Given the description of an element on the screen output the (x, y) to click on. 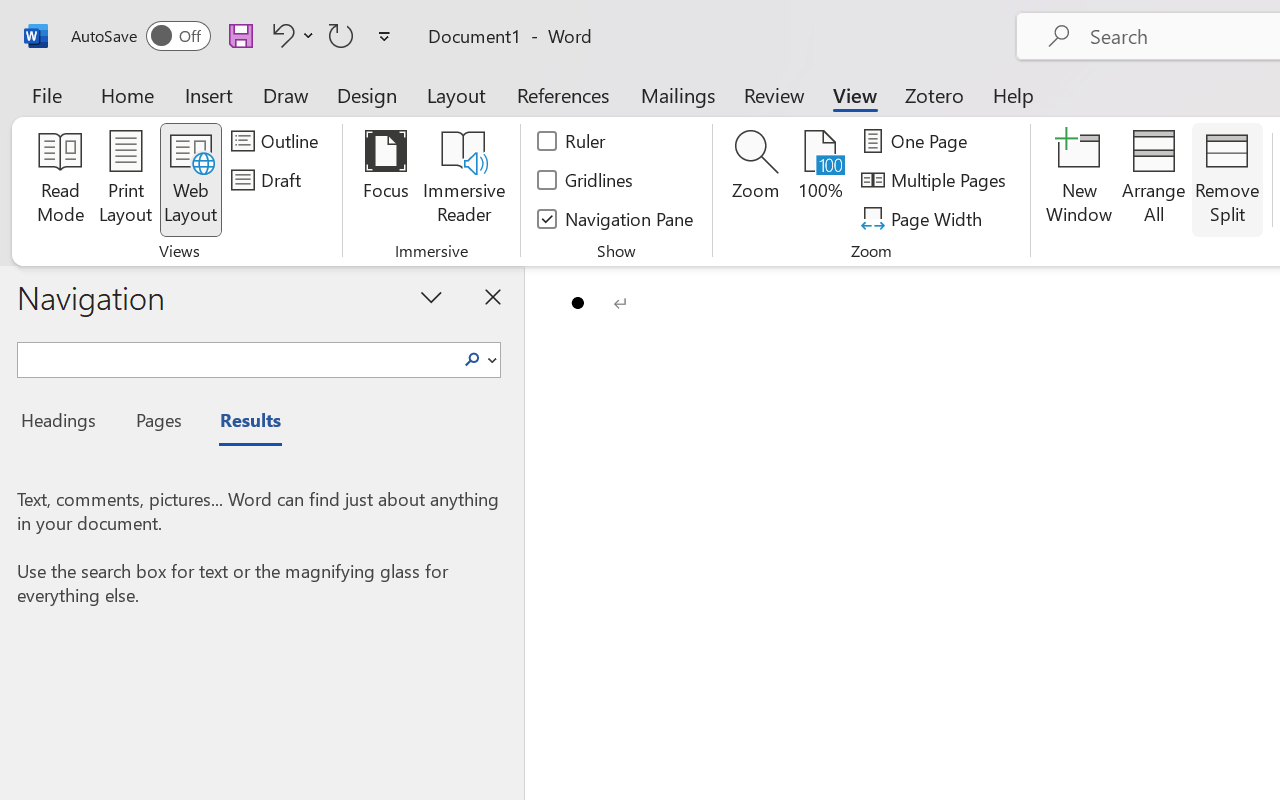
Multiple Pages (936, 179)
Undo Bullet Default (280, 35)
Zoom... (755, 179)
Draft (269, 179)
New Window (1079, 179)
Outline (278, 141)
